Given the description of an element on the screen output the (x, y) to click on. 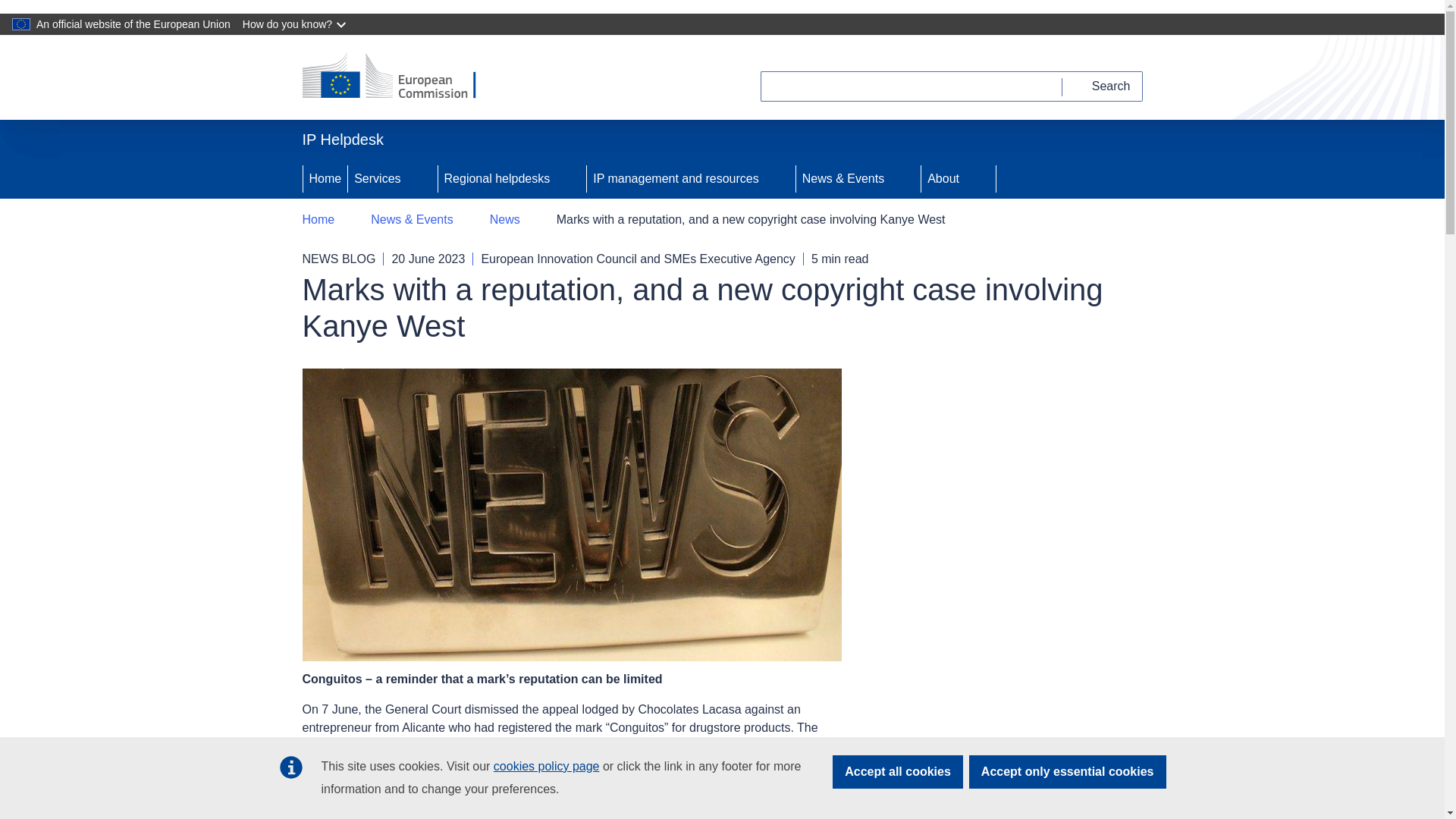
How do you know? (295, 24)
cookies policy page (546, 766)
IP management and resources (673, 178)
European Commission (399, 77)
Accept only essential cookies (1067, 771)
Services (375, 178)
Regional helpdesks (495, 178)
Search (1102, 86)
Home (324, 178)
Accept all cookies (897, 771)
